Given the description of an element on the screen output the (x, y) to click on. 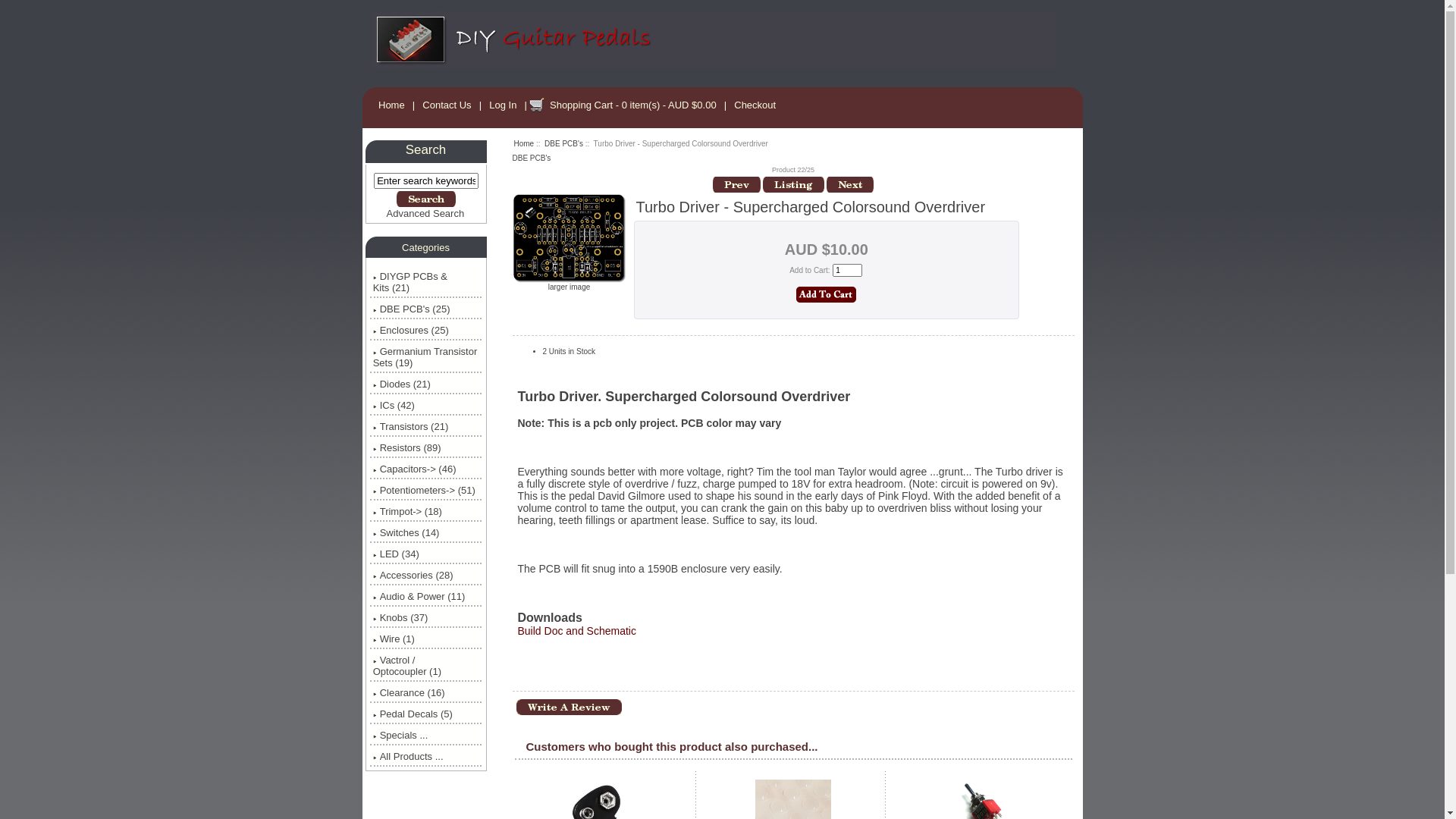
Write Review Element type: hover (568, 707)
Return to the Product List Element type: hover (793, 184)
Accessories (28) Element type: text (426, 574)
Log In Element type: text (502, 103)
Contact Us Element type: text (446, 103)
Shopping Cart - 0 item(s) - AUD $0.00 Element type: text (632, 103)
DBE PCB's Element type: text (531, 157)
LED (34) Element type: text (426, 553)
DBE PCB's (25) Element type: text (426, 308)
Resistors (89) Element type: text (426, 447)
Checkout Element type: text (755, 103)
Specials ... Element type: text (426, 734)
Home Element type: text (391, 103)
All Products ... Element type: text (426, 756)
Enclosures (25) Element type: text (426, 330)
Audio & Power (11) Element type: text (426, 596)
Home Element type: text (524, 143)
Clearance (16) Element type: text (426, 692)
Germanium Transistor Sets (19) Element type: text (426, 357)
Vactrol / Optocoupler (1) Element type: text (426, 665)
Diodes (21) Element type: text (426, 383)
DIYGP PCBs & Kits (21) Element type: text (426, 282)
Turbo Driver - Supercharged Colorsound Overdriver Element type: hover (569, 238)
larger image Element type: text (569, 283)
Capacitors-> (46) Element type: text (426, 468)
Potentiometers-> (51) Element type: text (426, 490)
Pedal Decals (5) Element type: text (426, 713)
Knobs (37) Element type: text (426, 617)
Build Doc and Schematic Element type: text (576, 630)
Wire (1) Element type: text (426, 638)
Transistors (21) Element type: text (426, 426)
Search Element type: hover (425, 199)
DBE PCB's Element type: text (563, 143)
Switches (14) Element type: text (426, 532)
Add to Cart Element type: hover (826, 294)
ICs (42) Element type: text (426, 405)
Advanced Search Element type: text (425, 213)
Next Element type: hover (849, 184)
Previous Element type: hover (736, 184)
Trimpot-> (18) Element type: text (426, 511)
